Given the description of an element on the screen output the (x, y) to click on. 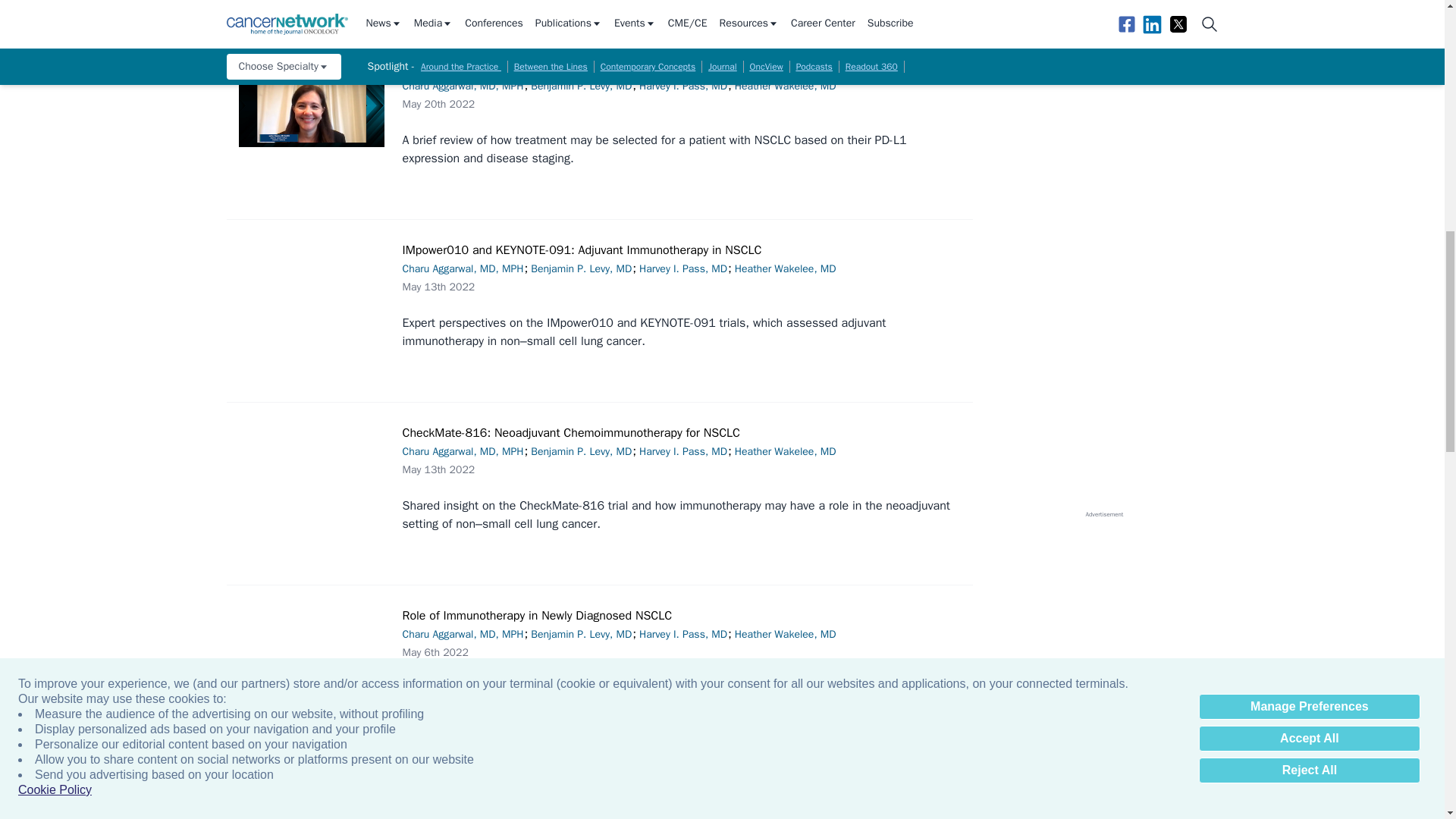
Expert on NSCLC (311, 470)
Expert on NSCLC (311, 653)
Expert on NSCLC (311, 807)
Expert on NSCLC (311, 288)
Expert on NSCLC (311, 105)
